Given the description of an element on the screen output the (x, y) to click on. 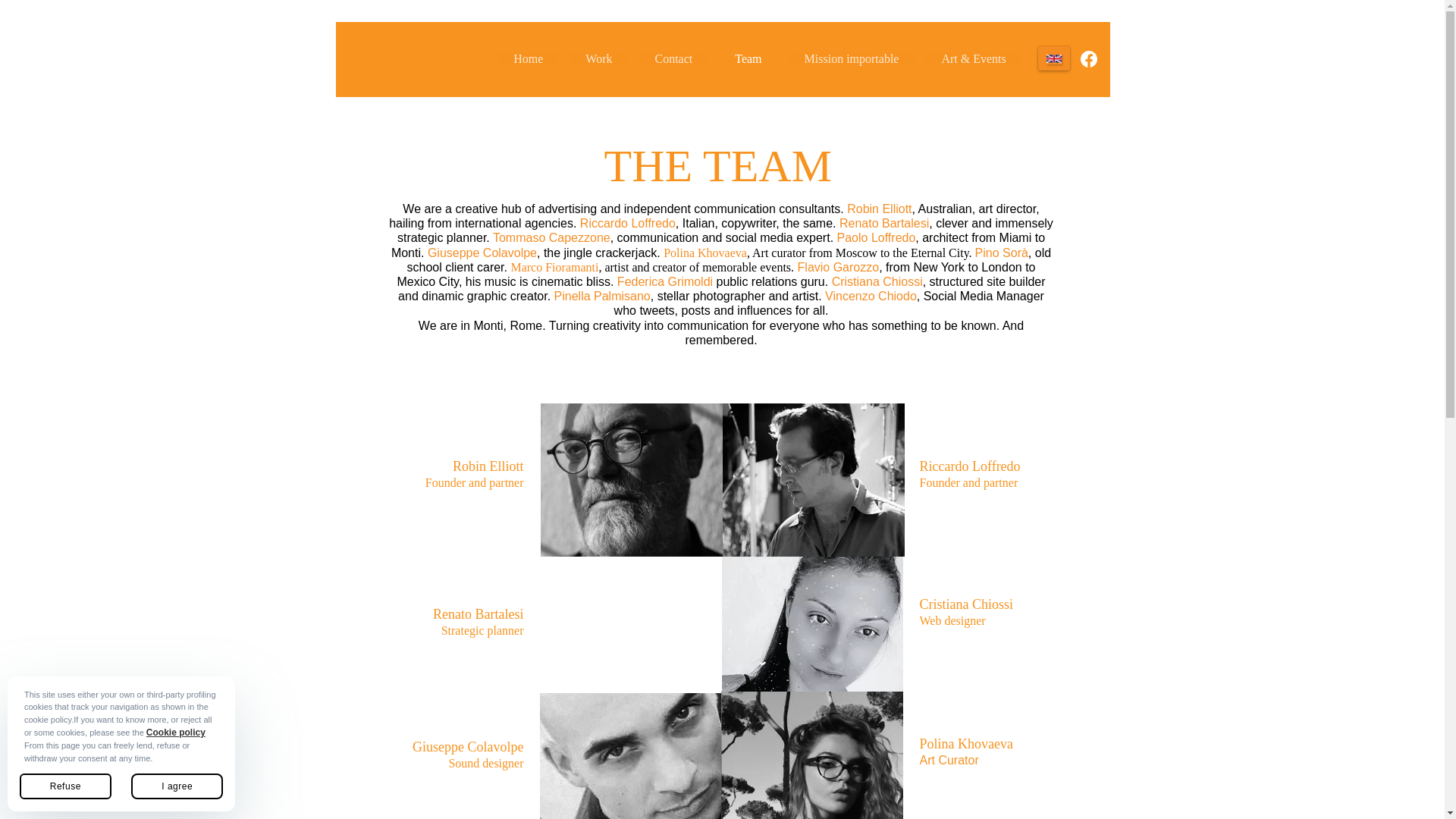
Cookie policy (176, 732)
